Given the description of an element on the screen output the (x, y) to click on. 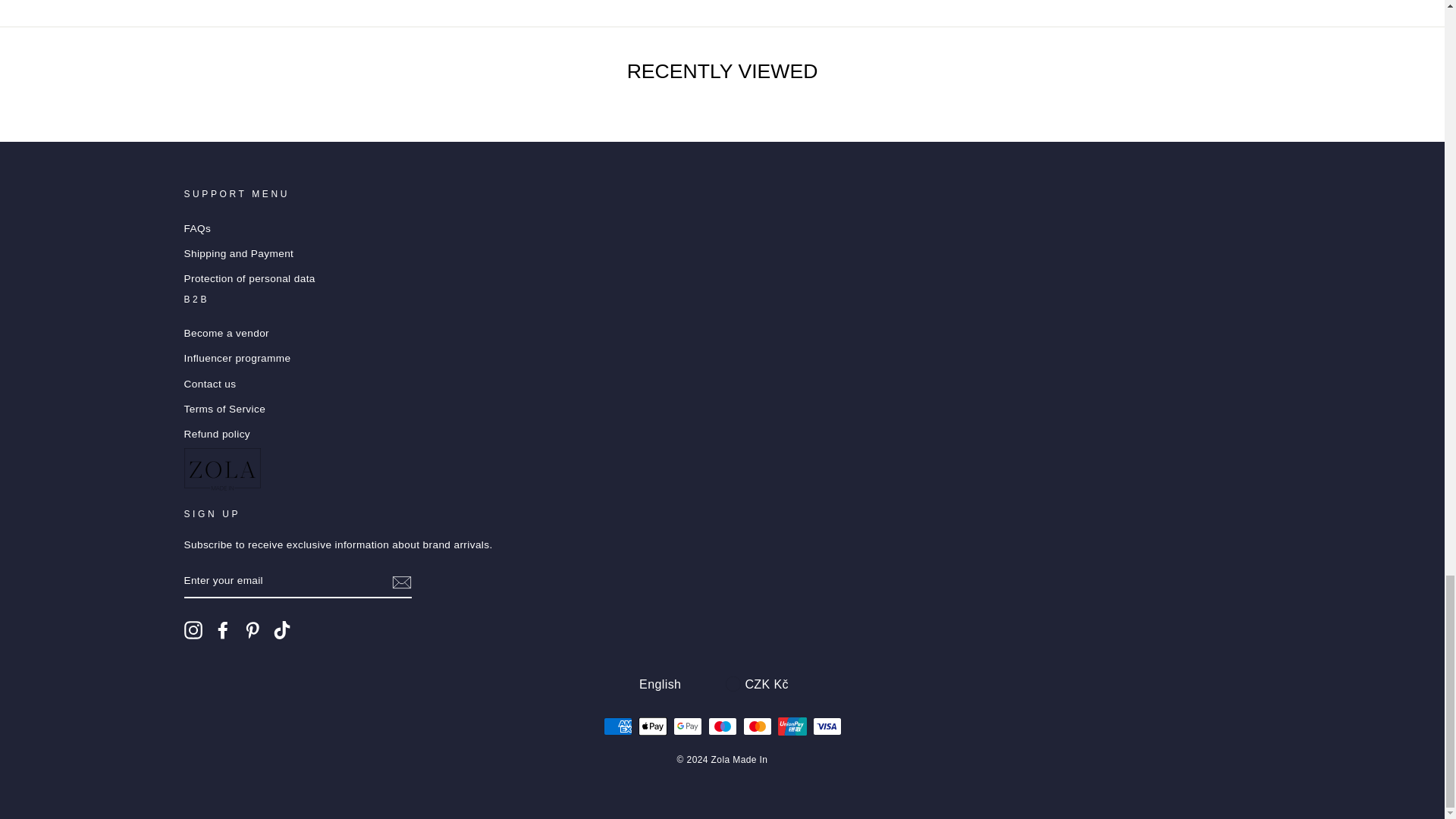
Zola Made In on Instagram (192, 629)
Zola Made In on Pinterest (251, 629)
Zola Made In on Facebook (222, 629)
Google Pay (686, 726)
Zola Made In on TikTok (282, 629)
American Express (617, 726)
Apple Pay (652, 726)
Maestro (721, 726)
